Given the description of an element on the screen output the (x, y) to click on. 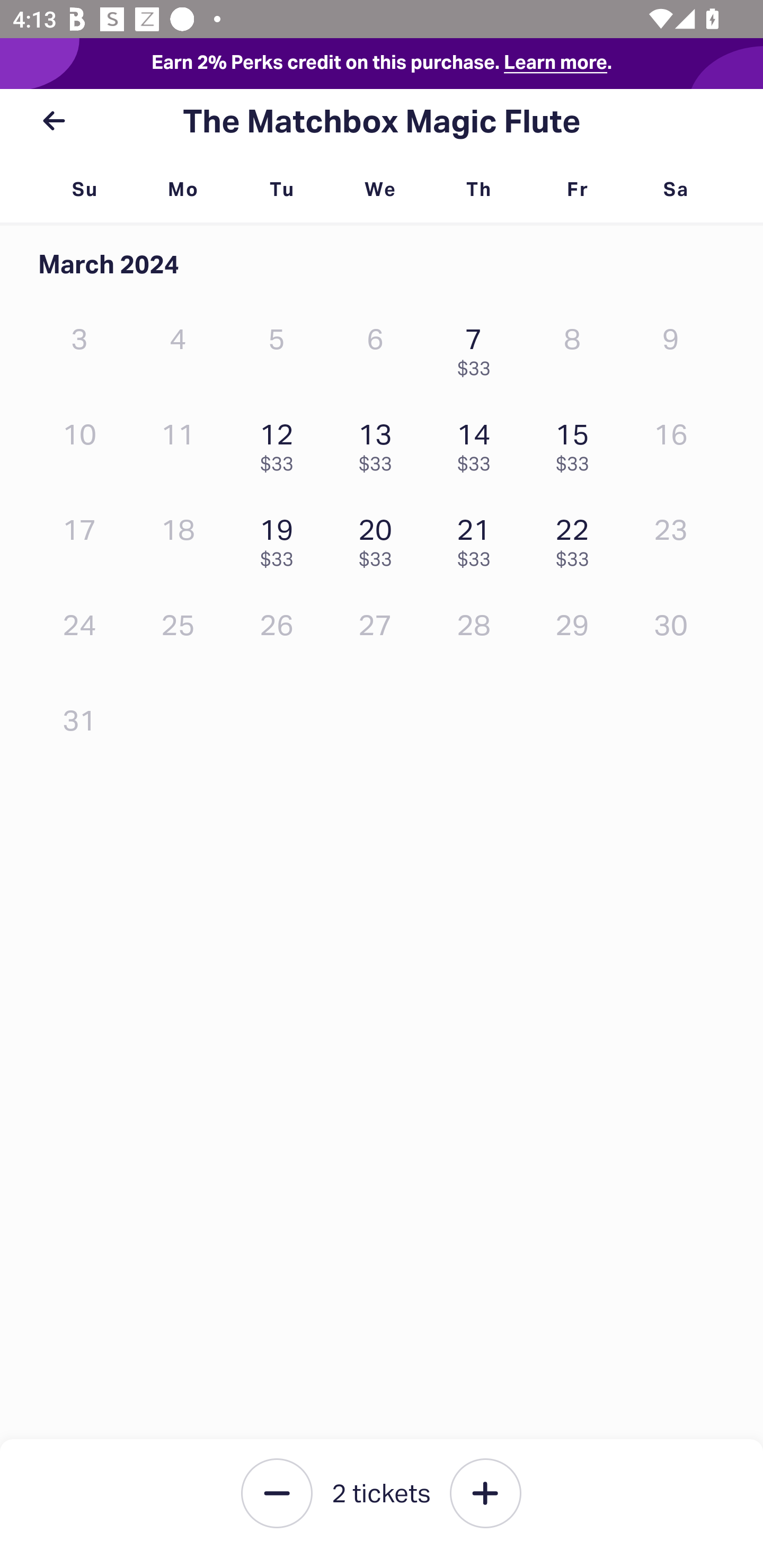
Earn 2% Perks credit on this purchase. Learn more. (381, 63)
back button (53, 120)
7 $33 (478, 347)
12 $33 (281, 442)
13 $33 (379, 442)
14 $33 (478, 442)
15 $33 (577, 442)
19 $33 (281, 538)
20 $33 (379, 538)
21 $33 (478, 538)
22 $33 (577, 538)
